Given the description of an element on the screen output the (x, y) to click on. 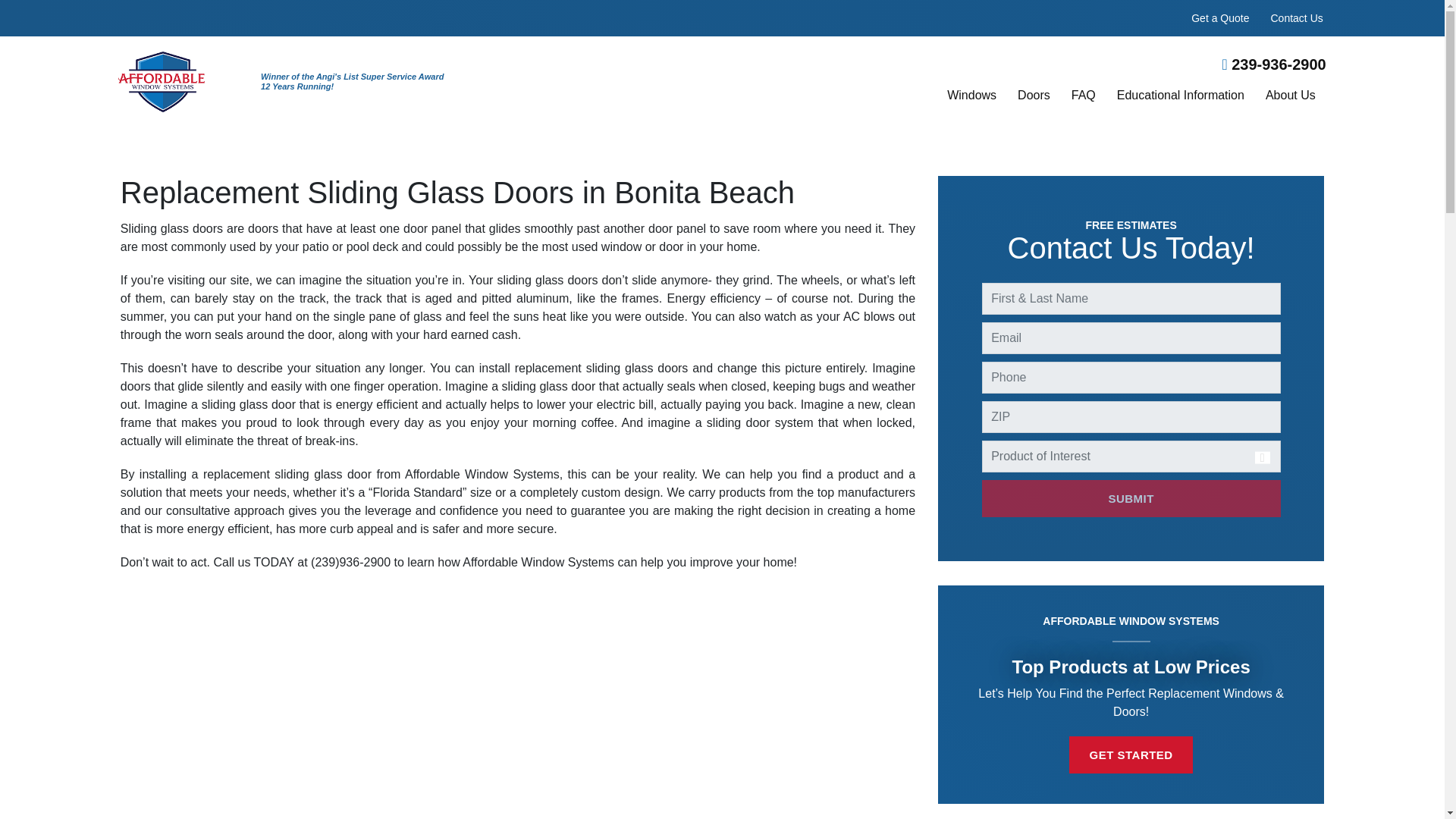
Affordable Window Systems (160, 80)
Submit (1131, 497)
Contact Us (1296, 18)
Get a Quote (1219, 18)
